Given the description of an element on the screen output the (x, y) to click on. 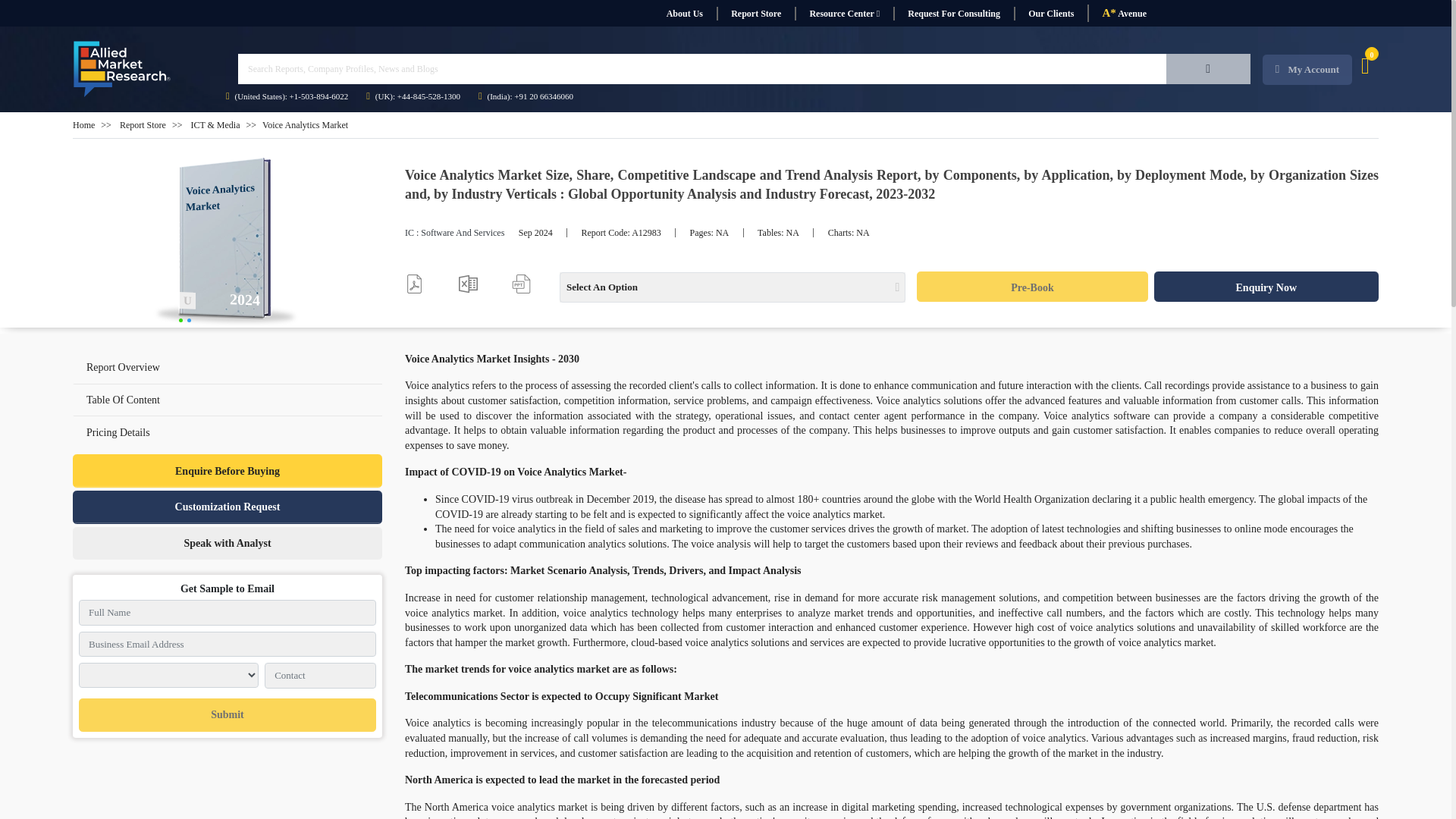
Buy Now (1032, 286)
Allied Market Research (227, 242)
Request For Consulting (953, 13)
Our Clients (1050, 13)
IC : Software And Services (453, 232)
Enquiry Now (1266, 286)
Enquire Before Buying (226, 470)
My Account (1307, 69)
Pre-Book (1032, 286)
About Us (684, 13)
Customization Request (226, 507)
Resource Center (843, 13)
Data Pack Excel (467, 283)
Allied Market Research (121, 68)
Report Store (142, 124)
